Given the description of an element on the screen output the (x, y) to click on. 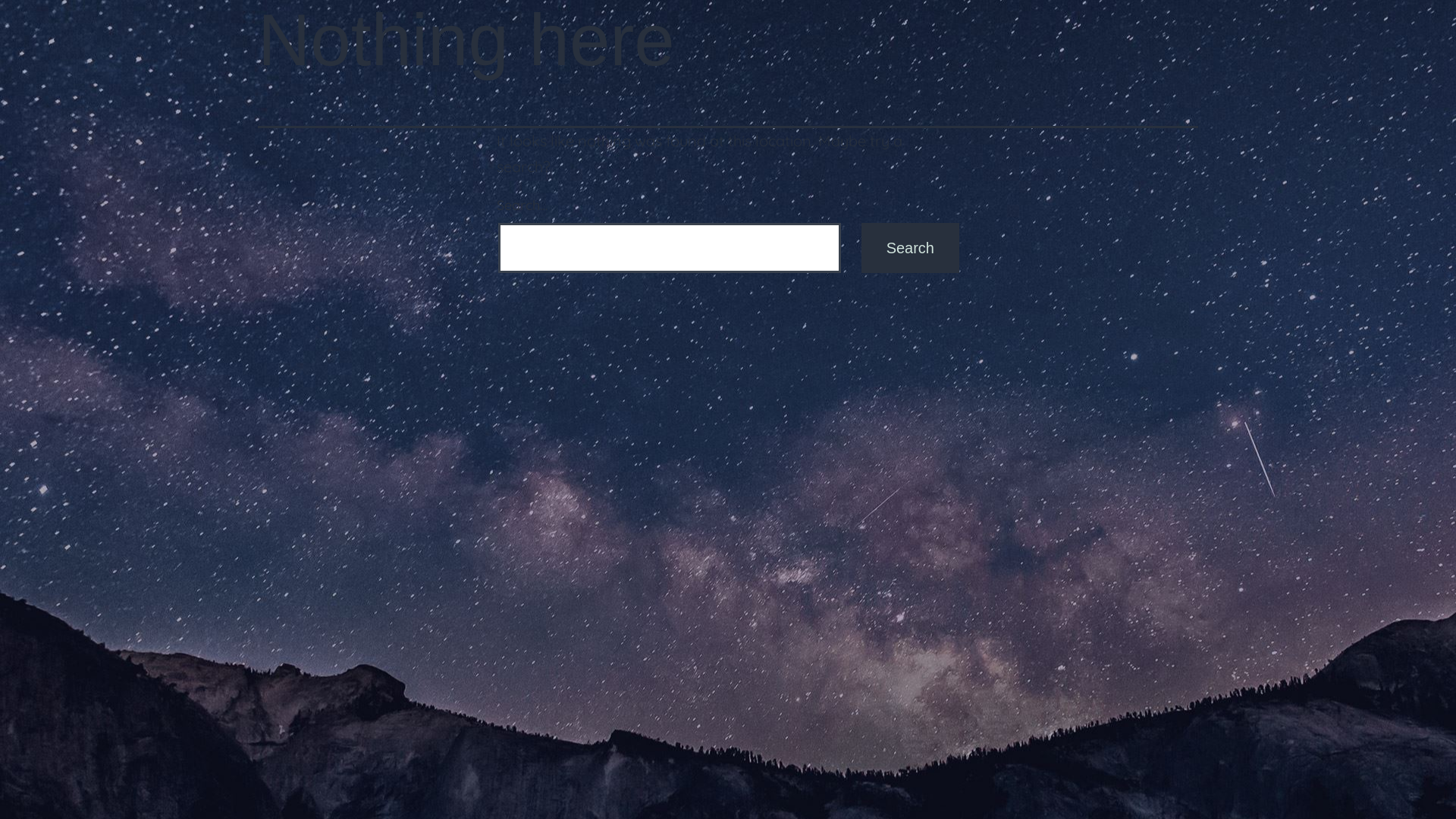
Search Element type: text (910, 247)
